Given the description of an element on the screen output the (x, y) to click on. 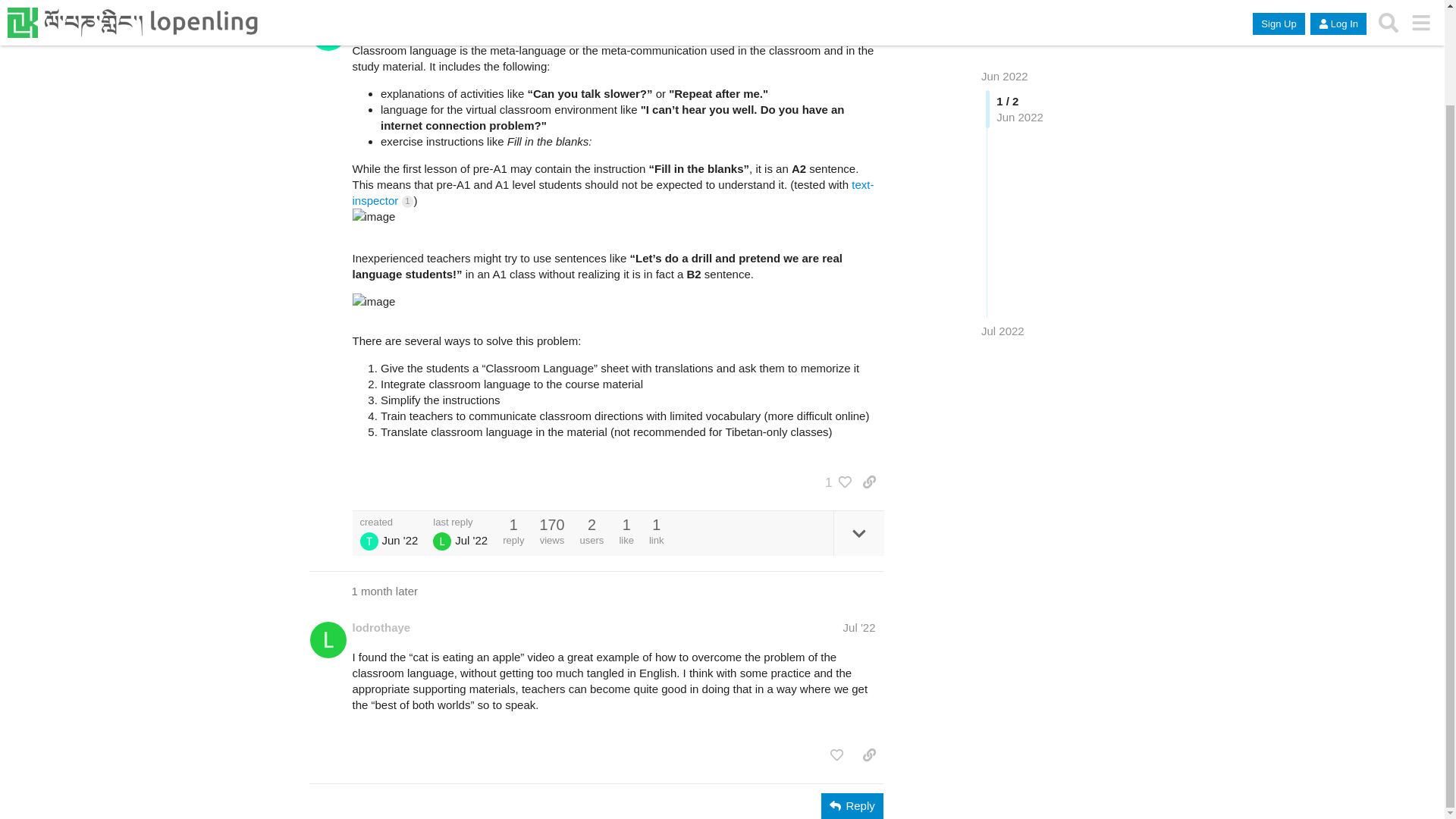
This user is a moderator (394, 19)
Jun 2022 (1004, 10)
Jun '22 (858, 19)
Jul 28, 2022 8:48 pm (1003, 264)
1 (833, 482)
Lodro (441, 541)
lodrothaye (381, 627)
share a link to this post (869, 482)
wiki last edited on Jun 16, 2022 6:58 pm (817, 19)
Ngawang Trinley (368, 541)
